Given the description of an element on the screen output the (x, y) to click on. 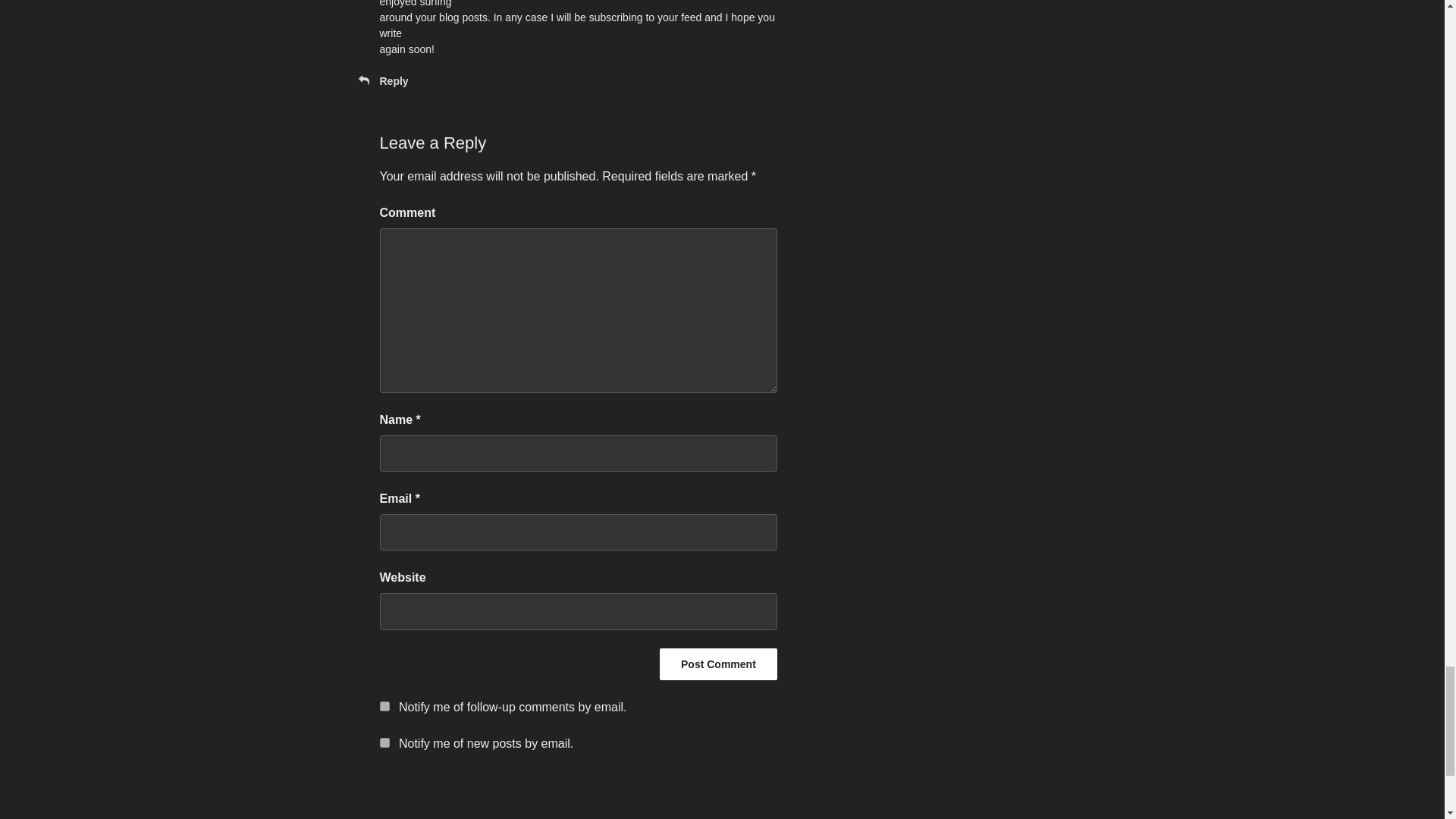
subscribe (383, 706)
subscribe (383, 742)
Post Comment (718, 664)
